Given the description of an element on the screen output the (x, y) to click on. 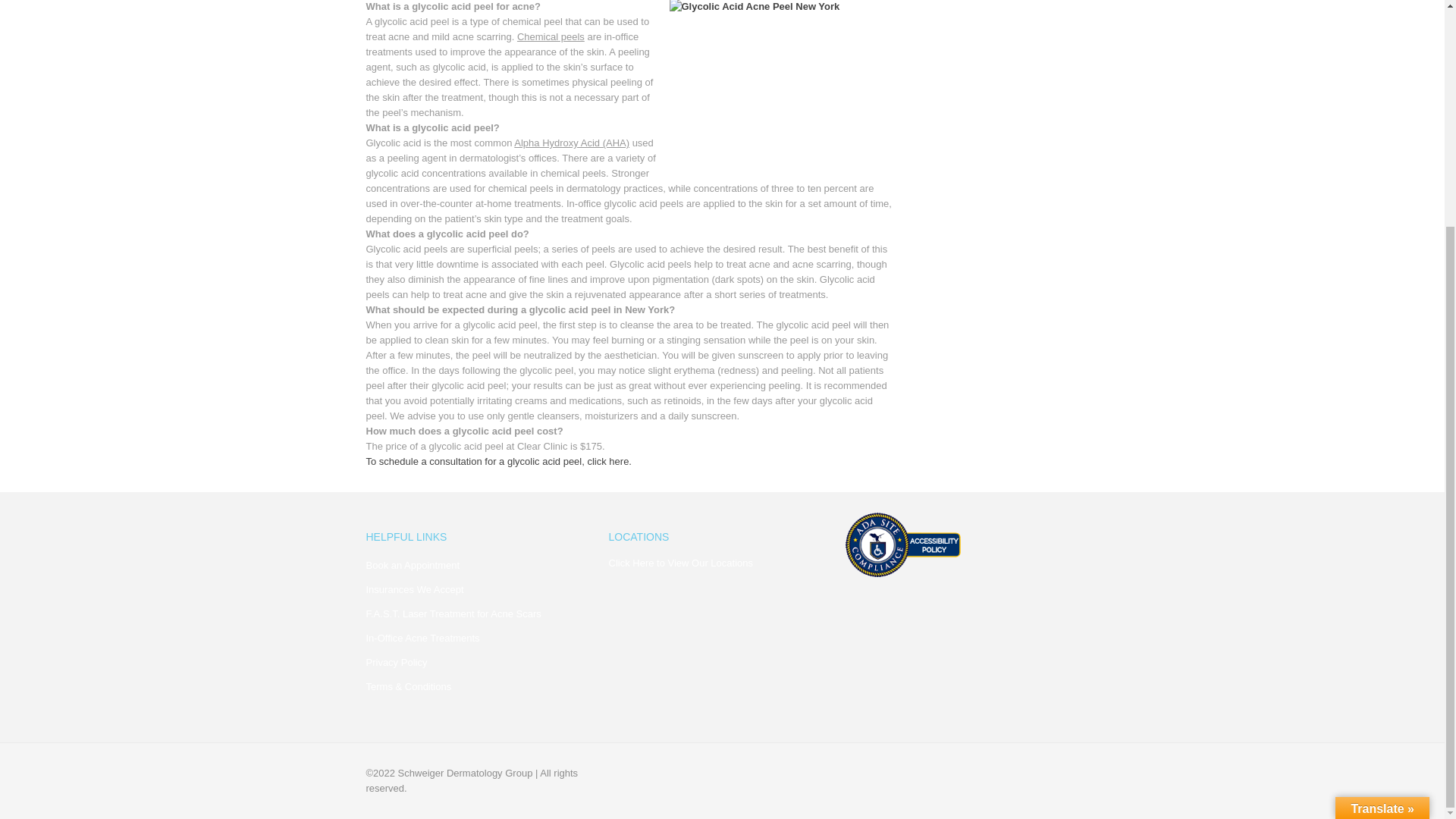
Click Here to View Our Locations (680, 562)
In-Office Acne Treatments (422, 637)
F.A.S.T. Laser Treatment for Acne Scars (452, 613)
Book an Appointment (412, 564)
Insurances We Accept (414, 589)
Privacy Policy (395, 662)
